Given the description of an element on the screen output the (x, y) to click on. 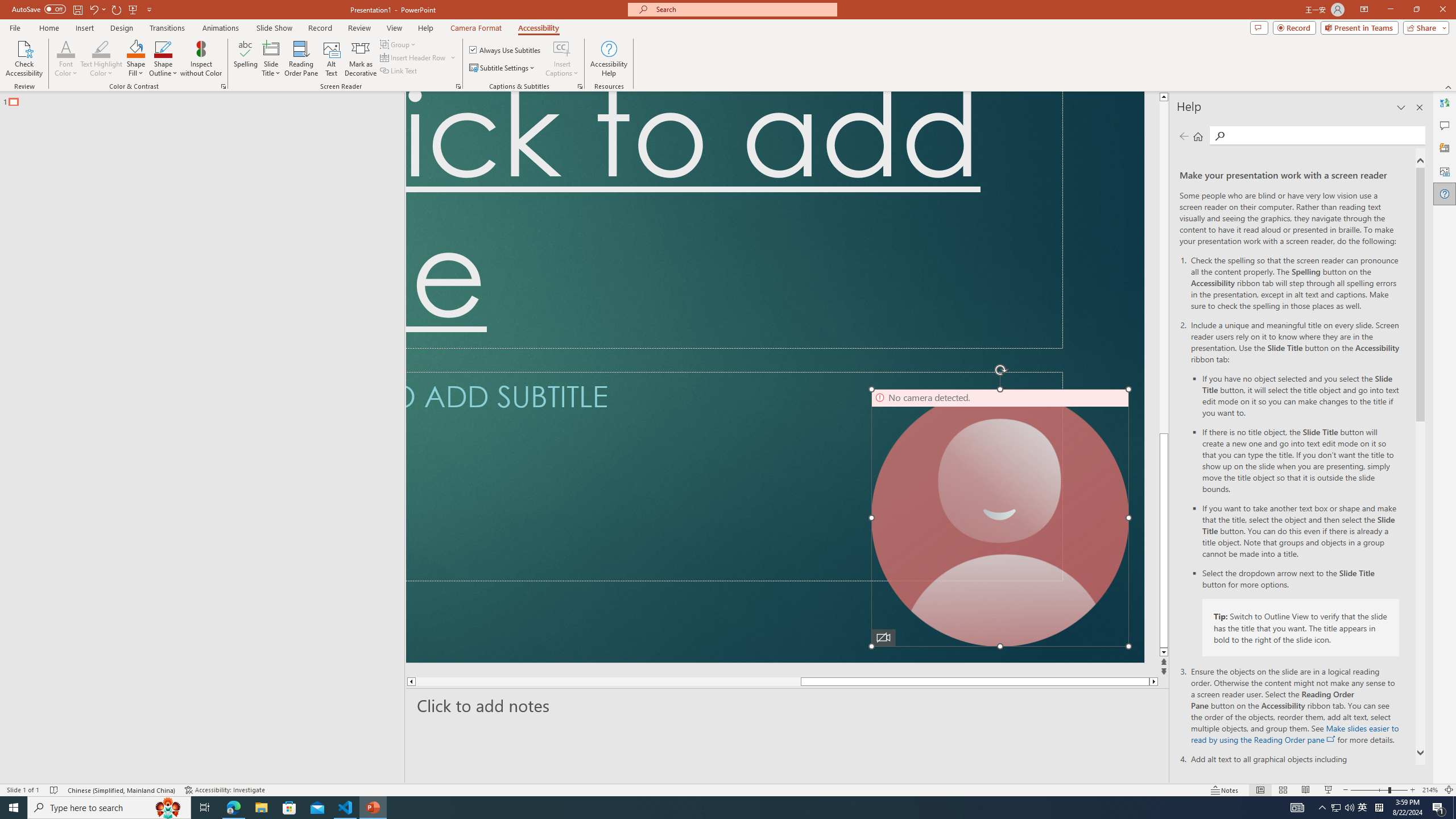
Microsoft search (742, 9)
Always Use Subtitles (505, 49)
Camera 8, No camera detected. (999, 517)
View (395, 28)
Insert (83, 28)
Design (122, 28)
Present in Teams (1359, 27)
Subtitle Settings (502, 67)
Page up (1165, 136)
Designer (1444, 147)
Record (1294, 27)
Line up (1165, 96)
Customize Quick Access Toolbar (149, 9)
Shape Fill (135, 58)
